Given the description of an element on the screen output the (x, y) to click on. 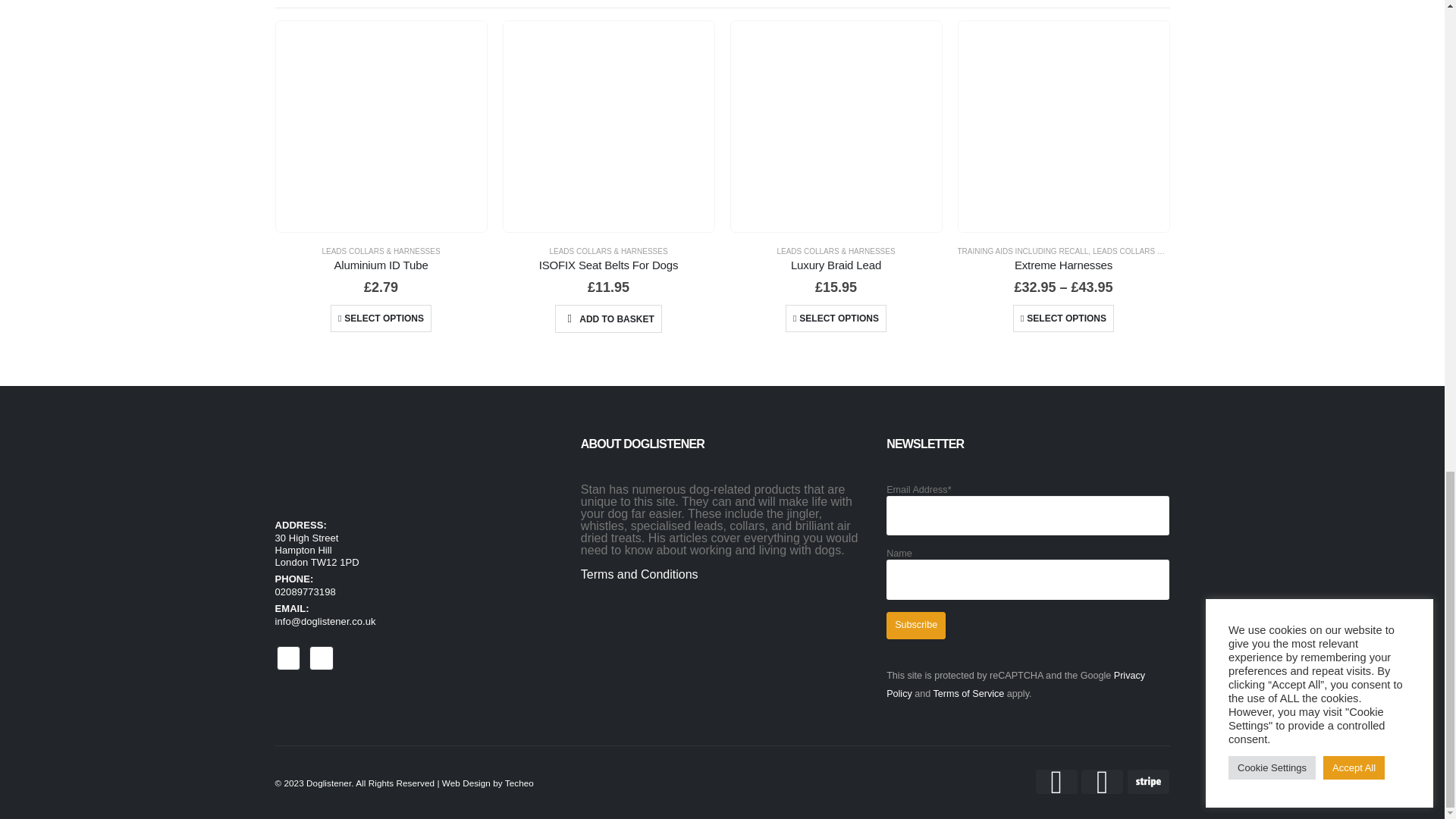
Subscribe (915, 625)
